Given the description of an element on the screen output the (x, y) to click on. 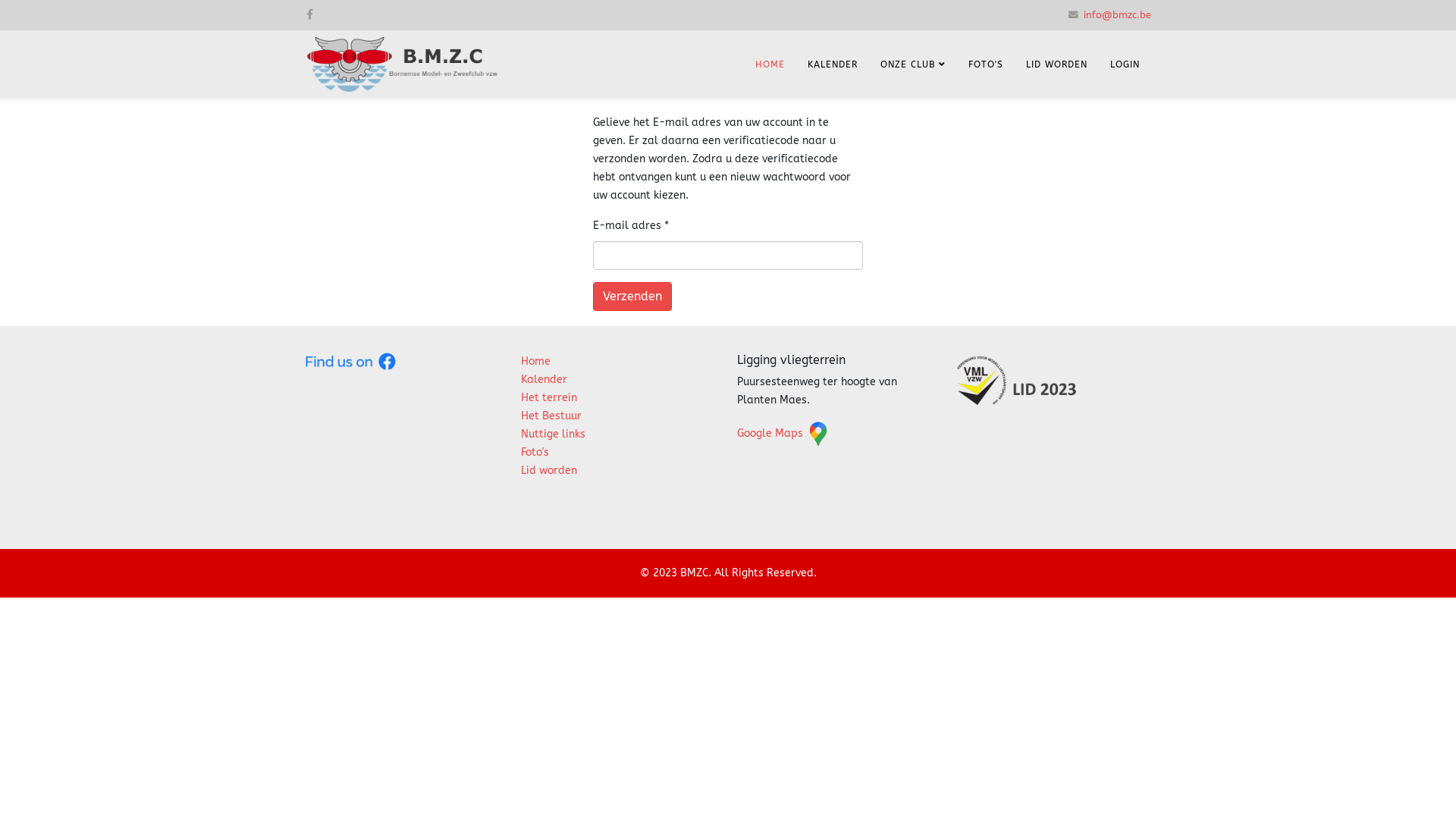
HOME Element type: text (769, 64)
ONZE CLUB Element type: text (913, 64)
info@bmzc.be Element type: text (1117, 14)
LID WORDEN Element type: text (1056, 64)
Google Maps Element type: text (783, 432)
Nuttige links Element type: text (552, 433)
LOGIN Element type: text (1124, 64)
Het terrein Element type: text (548, 397)
Verzenden Element type: text (632, 296)
FOTO'S Element type: text (985, 64)
Home Element type: text (535, 360)
Kalender Element type: text (543, 379)
KALENDER Element type: text (832, 64)
Het Bestuur Element type: text (550, 415)
Lid worden Element type: text (548, 470)
Foto's Element type: text (534, 451)
